Given the description of an element on the screen output the (x, y) to click on. 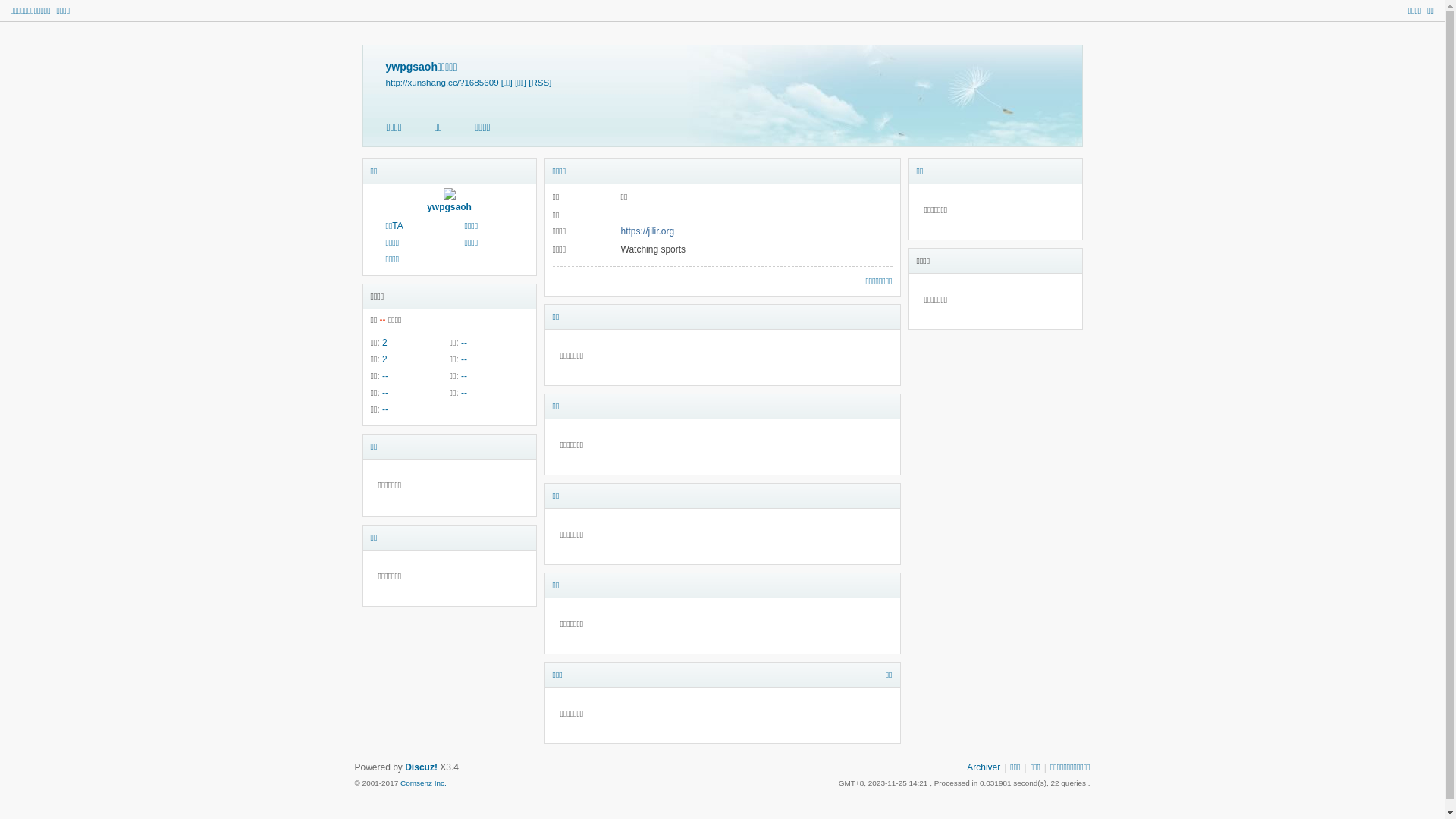
Comsenz Inc. Element type: text (423, 782)
-- Element type: text (385, 392)
-- Element type: text (464, 342)
Discuz! Element type: text (420, 767)
-- Element type: text (464, 359)
Archiver Element type: text (983, 767)
-- Element type: text (464, 375)
[RSS] Element type: text (539, 82)
-- Element type: text (385, 409)
2 Element type: text (384, 359)
-- Element type: text (464, 392)
ywpgsaoh Element type: text (448, 206)
https://jilir.org Element type: text (647, 230)
-- Element type: text (385, 375)
http://xunshang.cc/?1685609 Element type: text (441, 82)
2 Element type: text (384, 342)
